Given the description of an element on the screen output the (x, y) to click on. 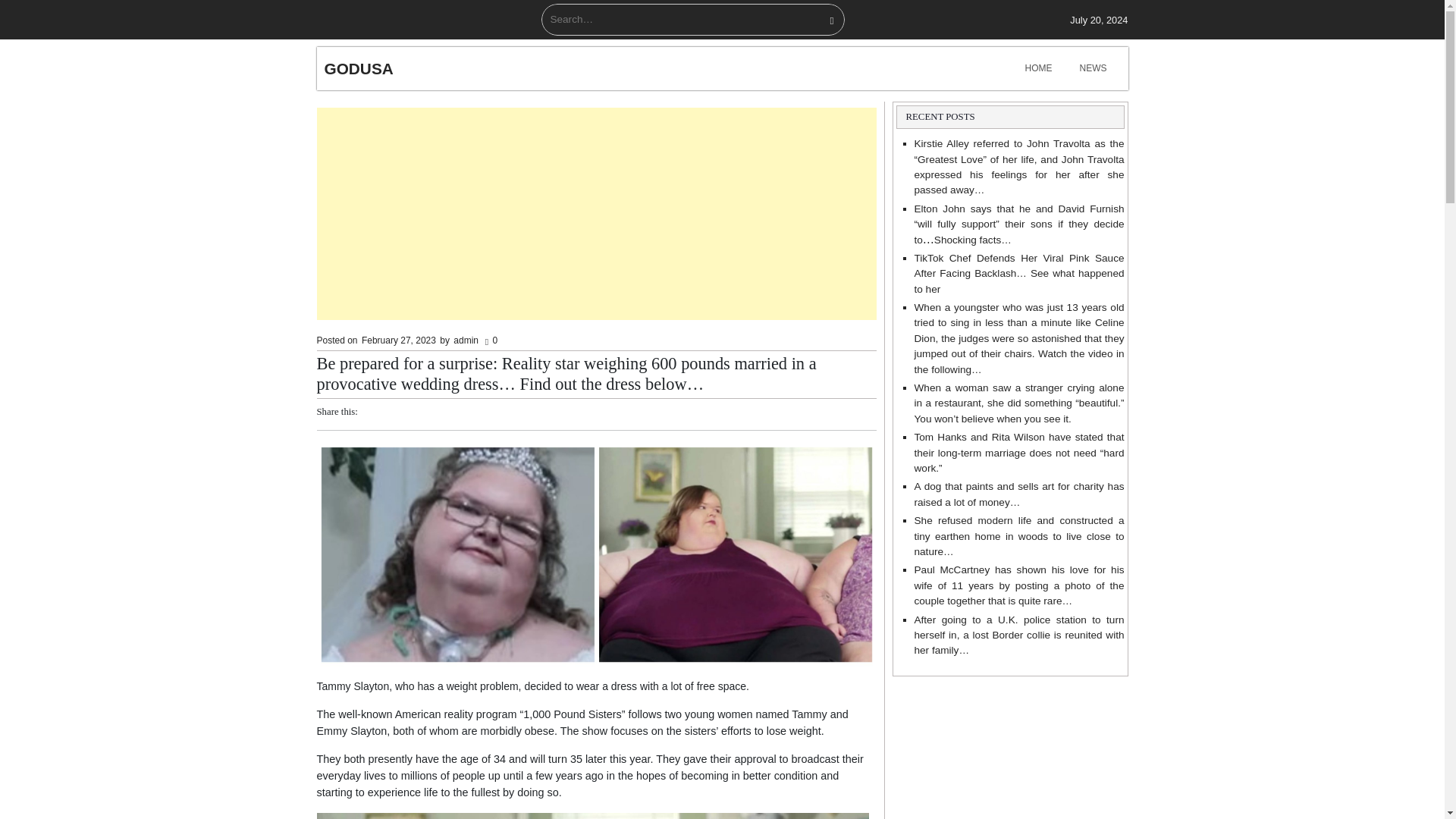
HOME (1038, 68)
Advertisement (596, 213)
GODUSA (358, 68)
admin (465, 340)
NEWS (1093, 68)
February 27, 2023 (398, 340)
